Given the description of an element on the screen output the (x, y) to click on. 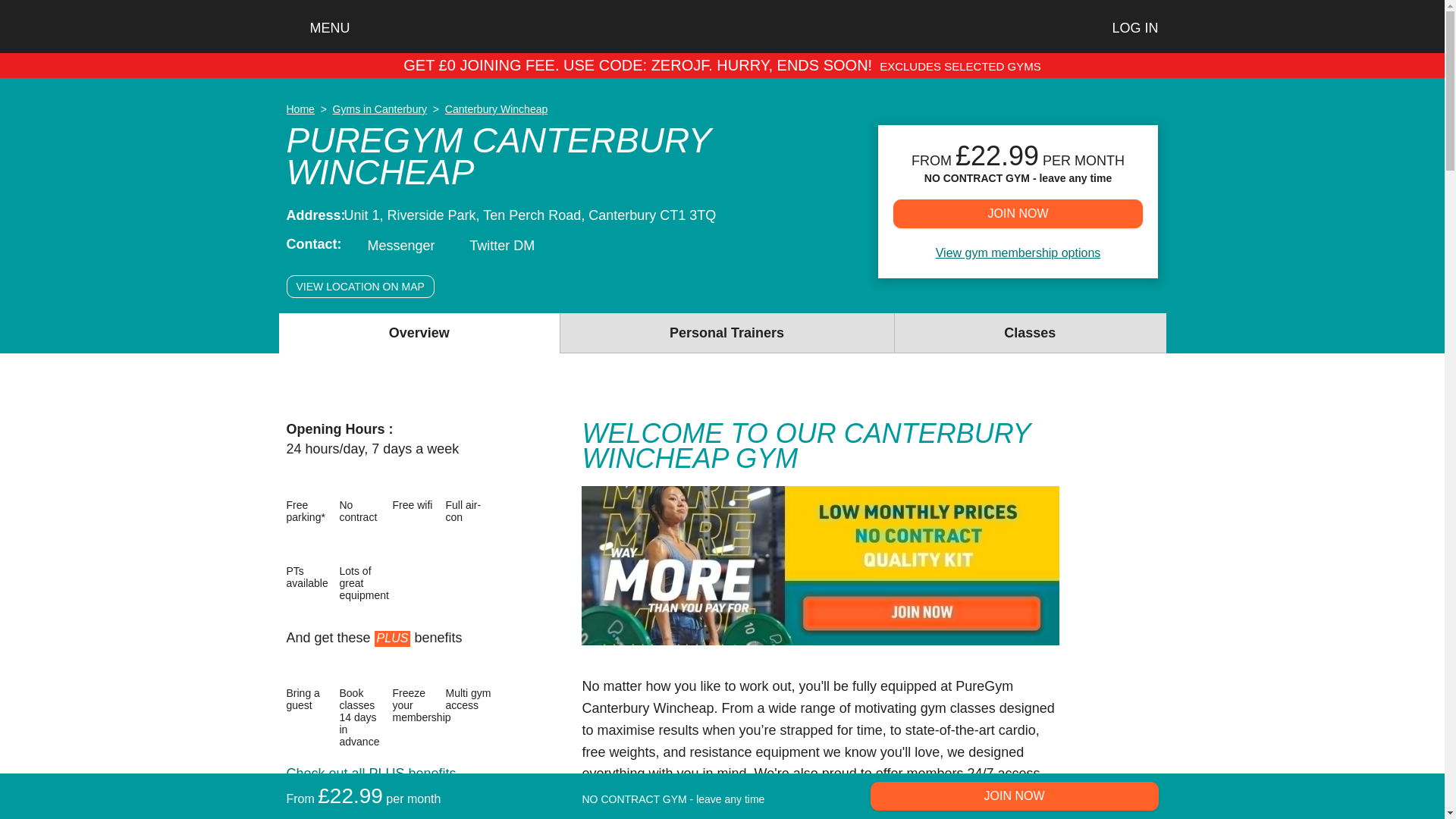
Pure Gym (350, 483)
Pure Gym (297, 549)
Home (722, 26)
Pure Gym (297, 483)
Pure Gym (403, 483)
Pure Gym (456, 483)
MENU (318, 28)
Pure Gym (403, 671)
Pure Gym (456, 671)
Pure Gym (350, 671)
BAU (819, 565)
Pure Gym (297, 671)
Pure Gym (350, 549)
